Given the description of an element on the screen output the (x, y) to click on. 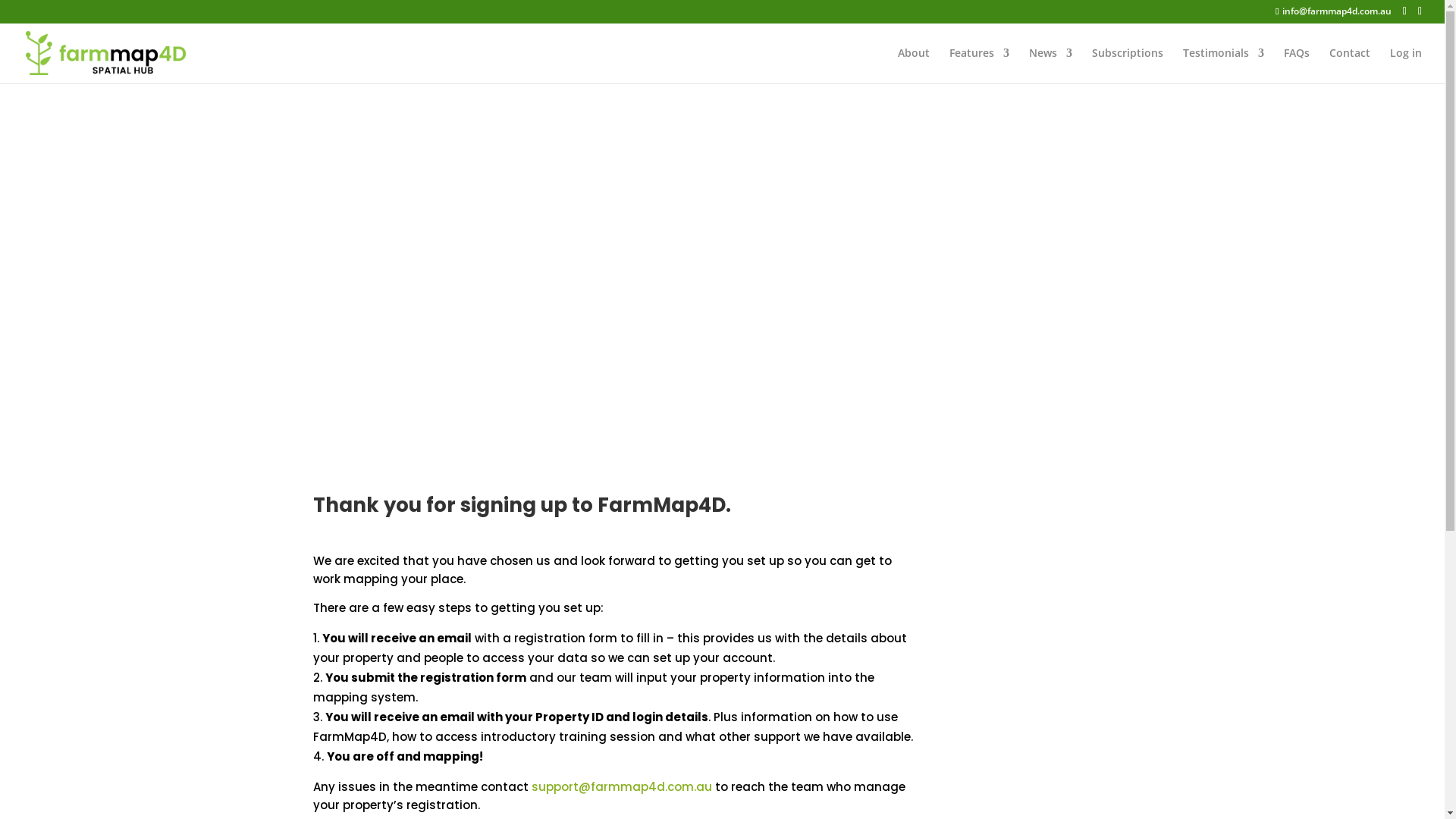
About Element type: text (913, 65)
support@farmmap4d.com.au Element type: text (620, 786)
Subscriptions Element type: text (1127, 65)
FAQs Element type: text (1296, 65)
Features Element type: text (979, 65)
Contact Element type: text (1349, 65)
Log in Element type: text (1405, 65)
News Element type: text (1050, 65)
info@farmmap4d.com.au Element type: text (1332, 10)
Testimonials Element type: text (1223, 65)
